Given the description of an element on the screen output the (x, y) to click on. 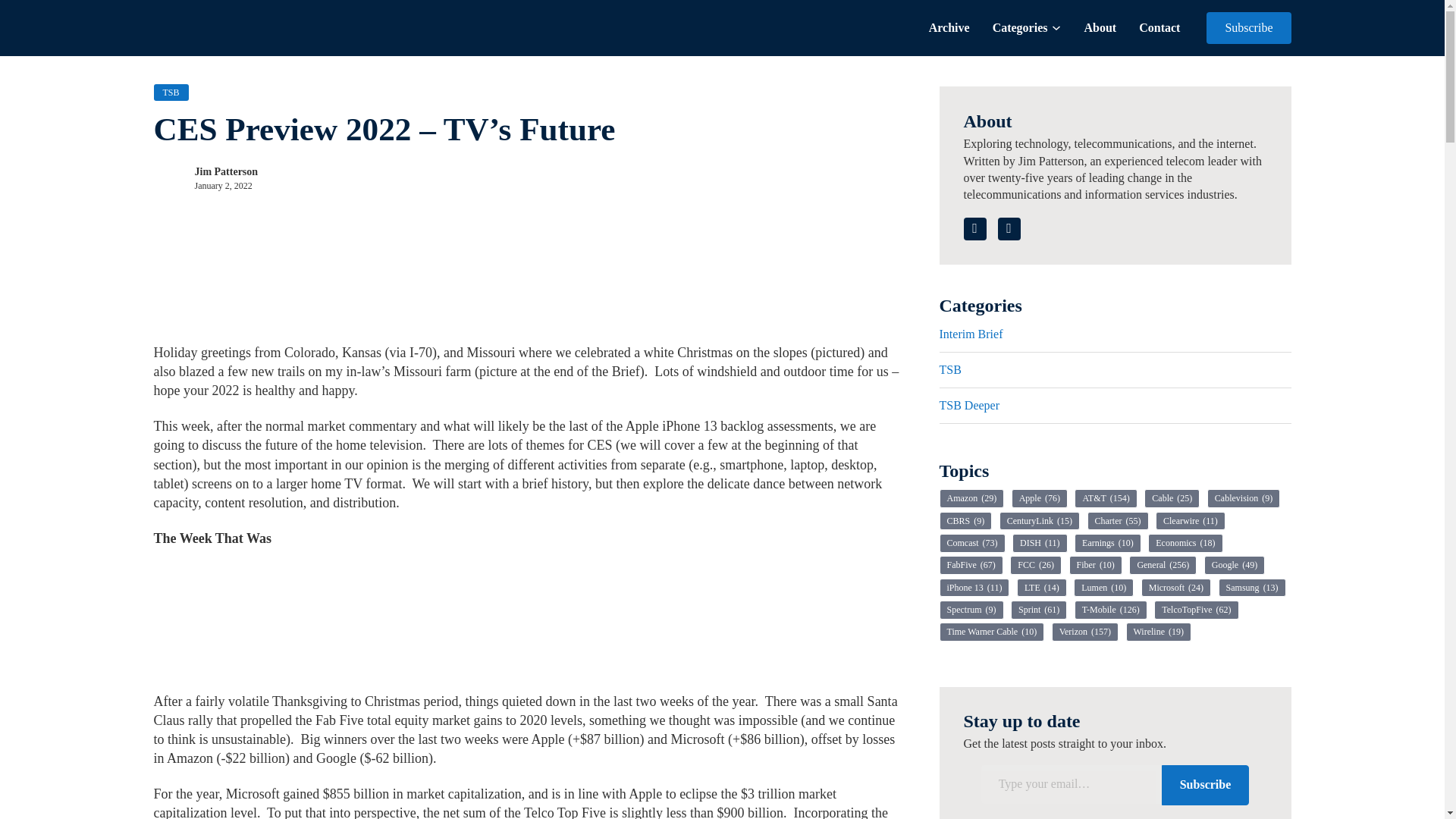
CES Preview 2022 - TV's Future 1 (266, 273)
Contact (1158, 27)
Subscribe (1248, 28)
About (1099, 27)
CES Preview 2022 - TV's Future 2 (266, 621)
Categories (1020, 27)
Archive (948, 27)
Please fill in this field. (1071, 783)
